Given the description of an element on the screen output the (x, y) to click on. 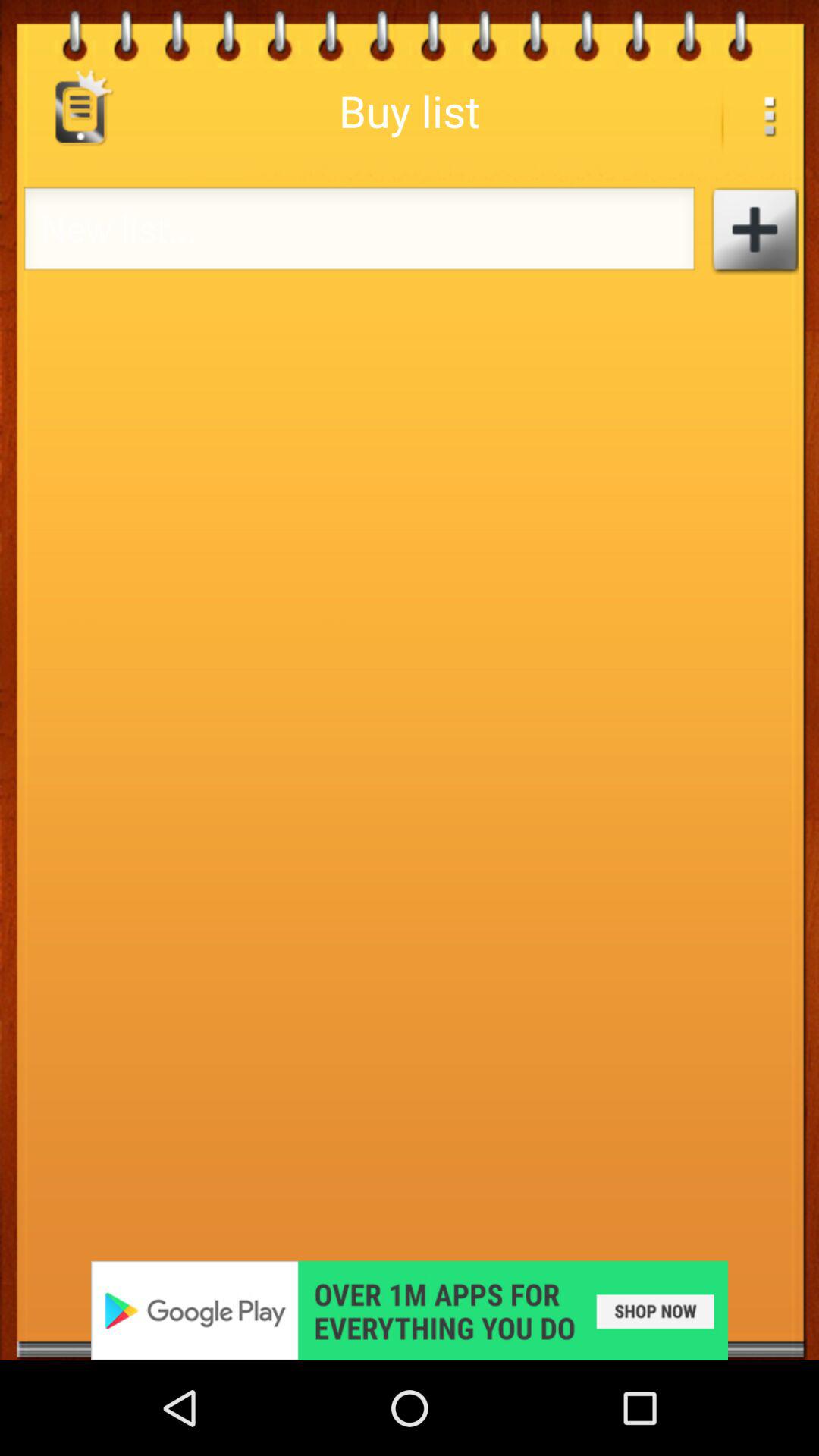
add item to buy list (754, 230)
